Given the description of an element on the screen output the (x, y) to click on. 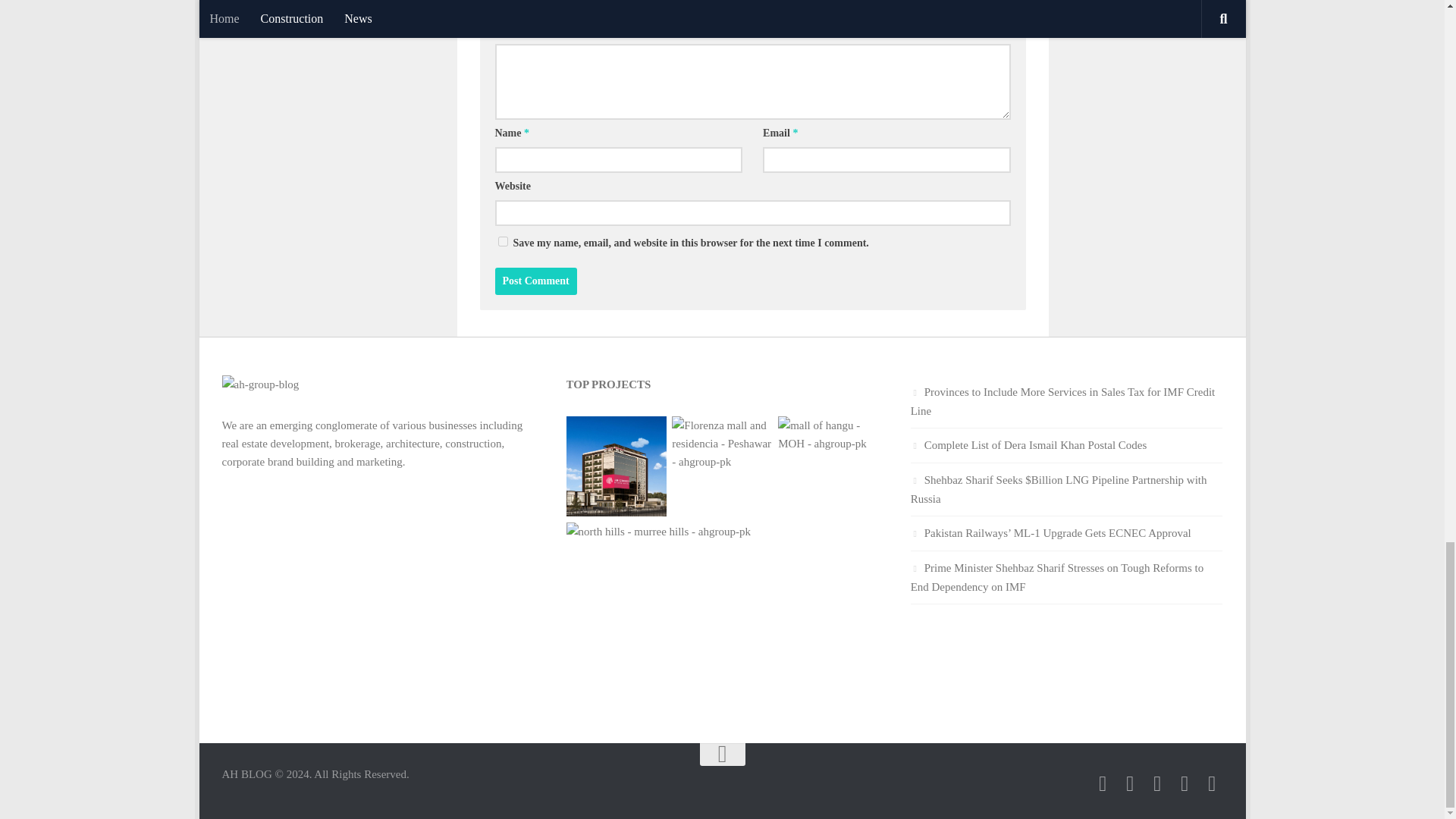
yes (501, 241)
Post Comment (535, 280)
